Given the description of an element on the screen output the (x, y) to click on. 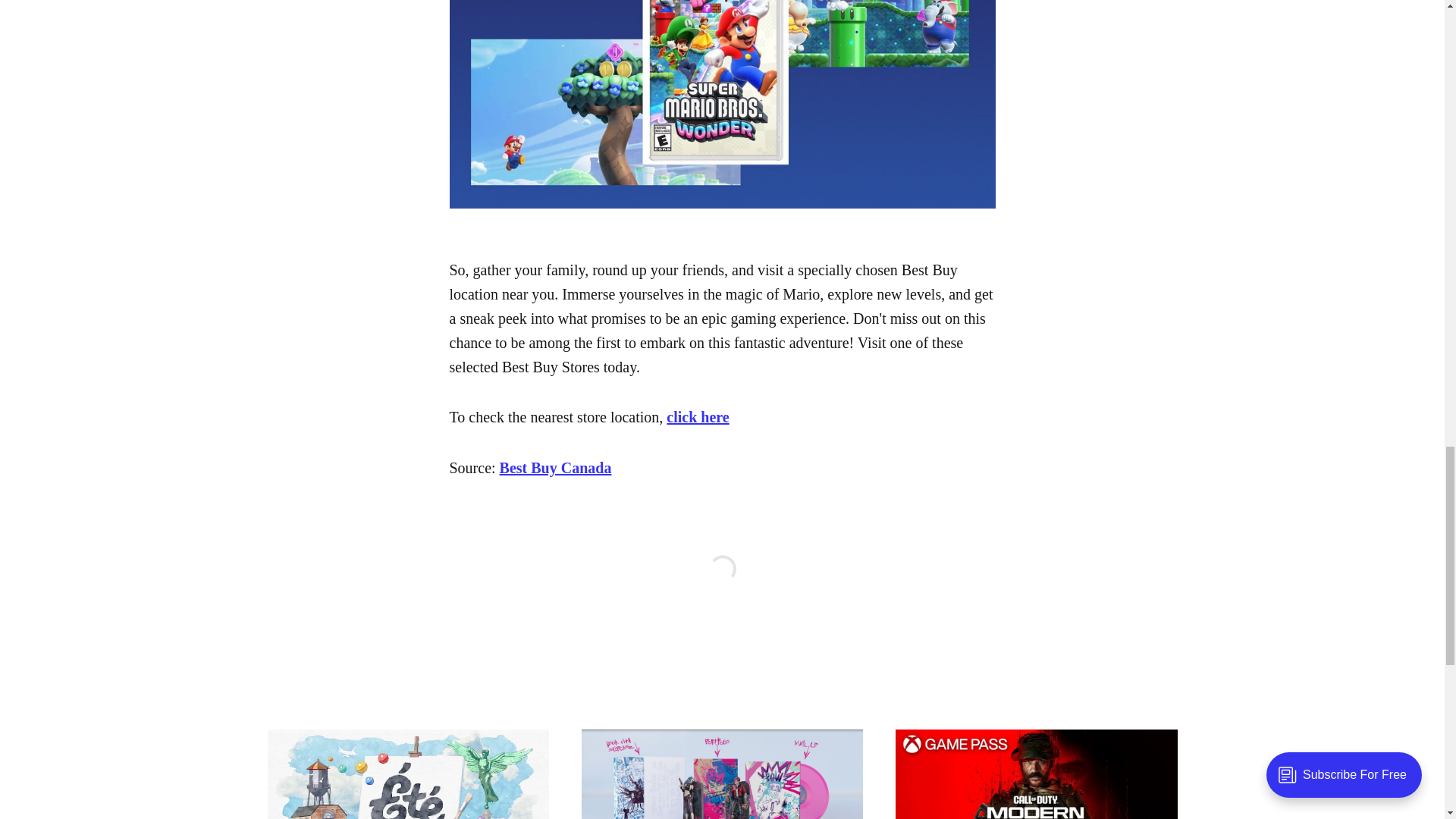
click here (697, 416)
comments-frame (721, 586)
Best Buy Canada (555, 467)
